Given the description of an element on the screen output the (x, y) to click on. 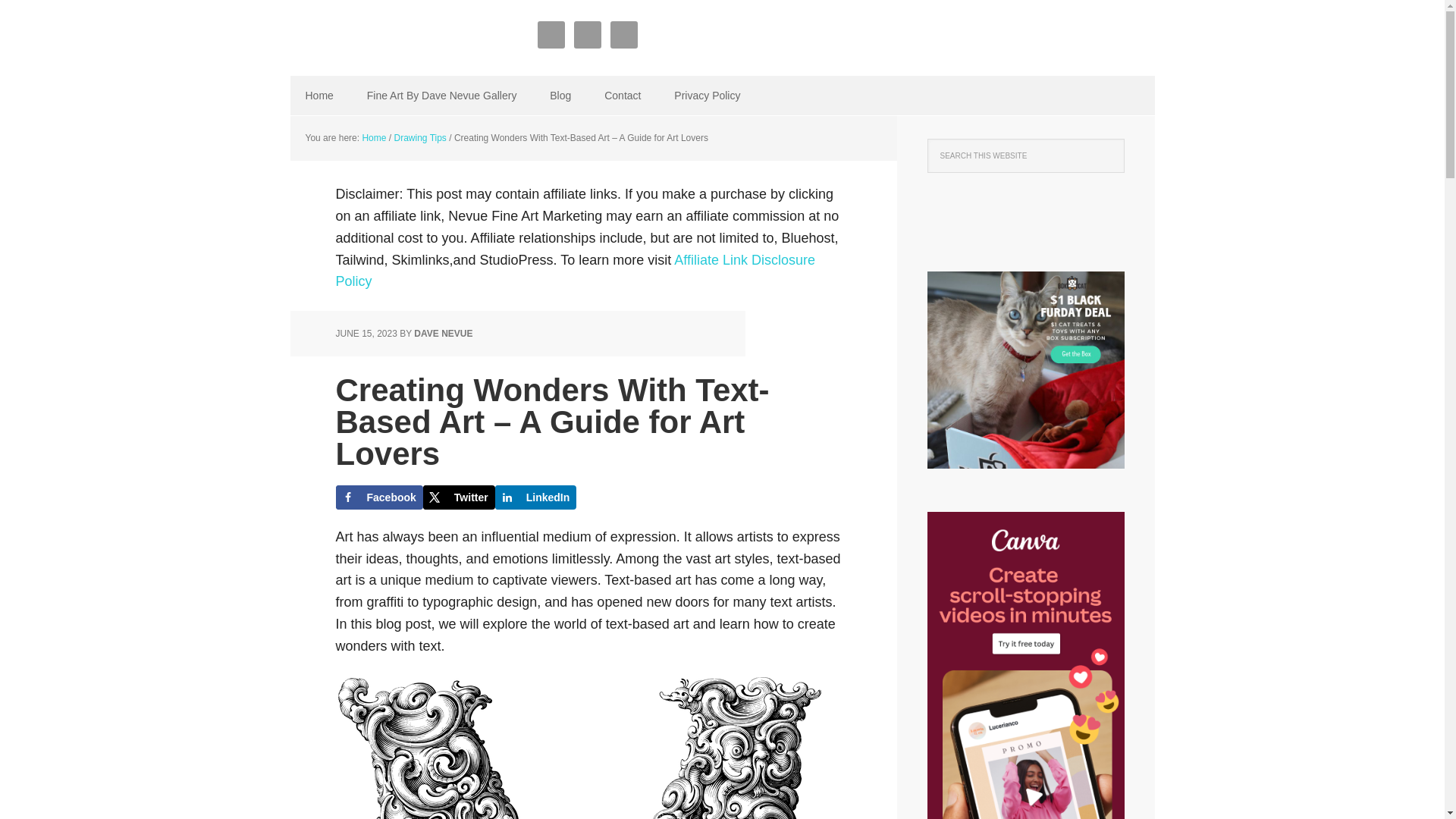
Blog (560, 96)
Facebook (378, 497)
Drawing Tips (420, 137)
Fine Art By Dave Nevue Gallery (442, 96)
Share on LinkedIn (535, 497)
Affiliate Link Disclosure Policy (574, 270)
DAVE NEVUE (442, 333)
Home (318, 96)
